Given the description of an element on the screen output the (x, y) to click on. 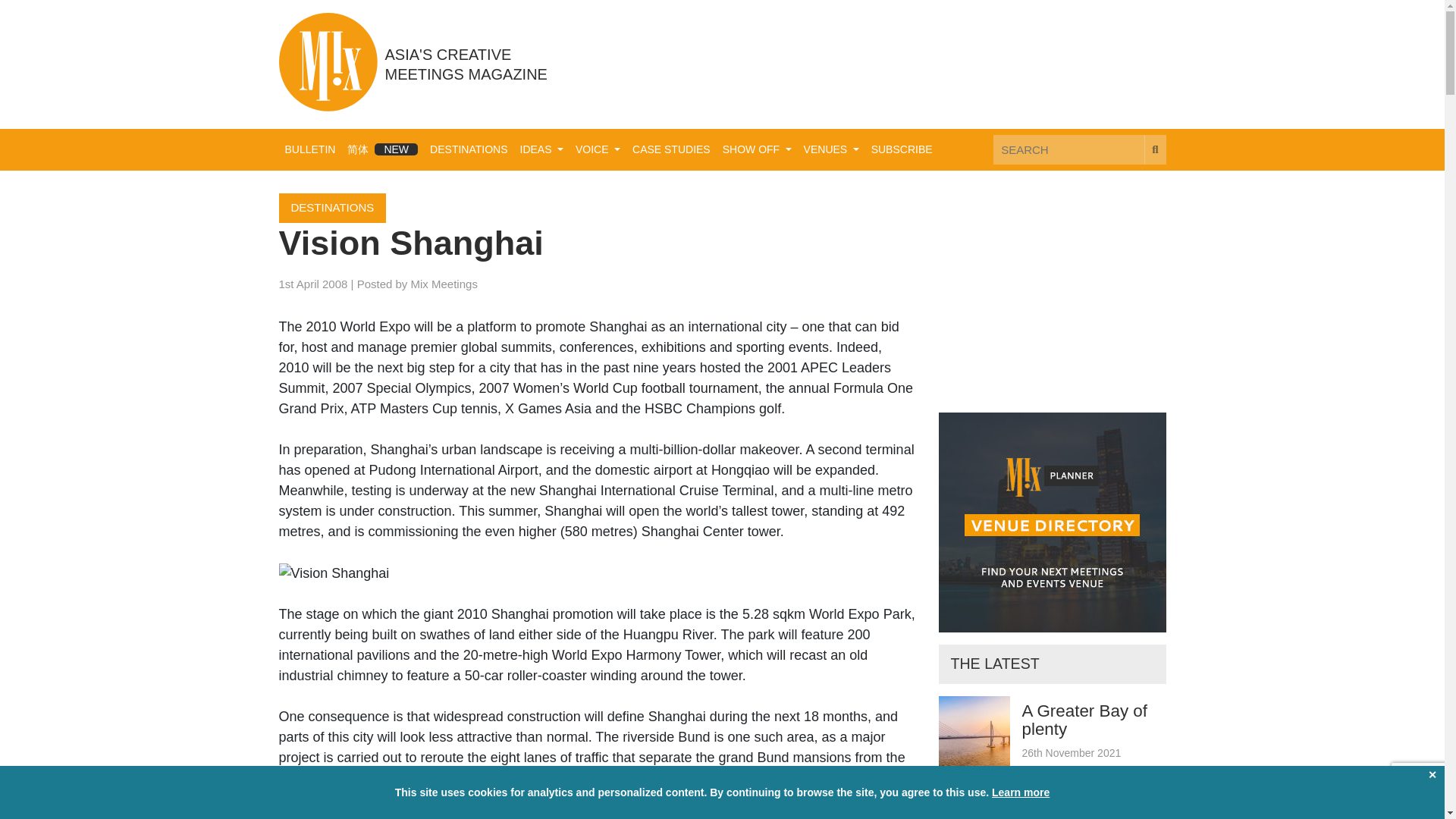
Mix Meetings (443, 283)
DESTINATIONS (468, 149)
3rd party ad content (890, 63)
Destinations (468, 149)
Ideas (541, 149)
SUBSCRIBE (901, 149)
DESTINATIONS (333, 207)
BULLETIN (310, 149)
IDEAS (541, 149)
Voice (597, 149)
VOICE (597, 149)
VENUES (830, 149)
Case Studies (671, 149)
Bulletin (310, 149)
CASE STUDIES (671, 149)
